Given the description of an element on the screen output the (x, y) to click on. 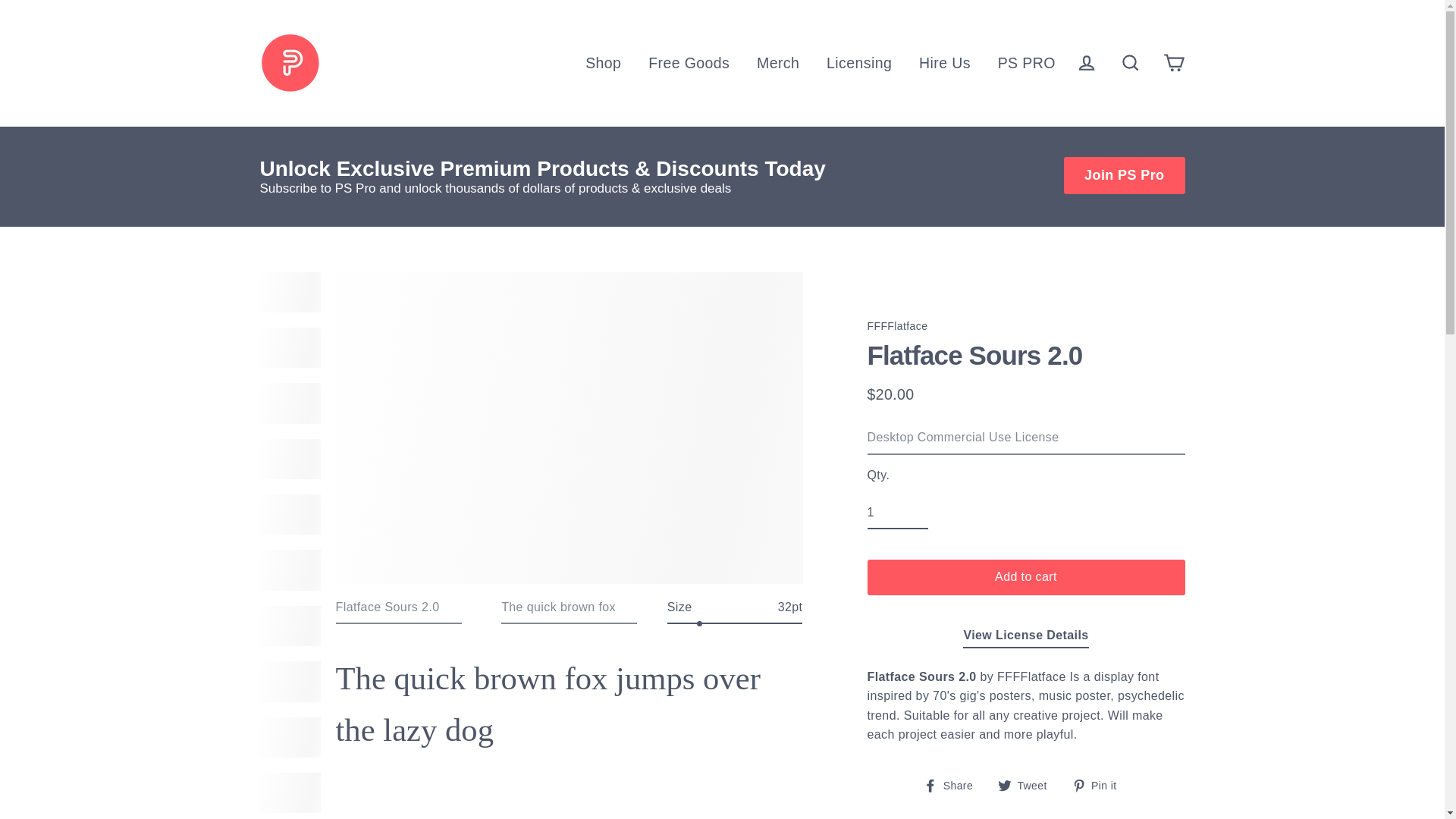
Pin on Pinterest (1099, 784)
1 (897, 512)
32 (734, 623)
Share on Facebook (953, 784)
Tweet on Twitter (1027, 784)
Pixel Surplus Licensing (1024, 636)
